Given the description of an element on the screen output the (x, y) to click on. 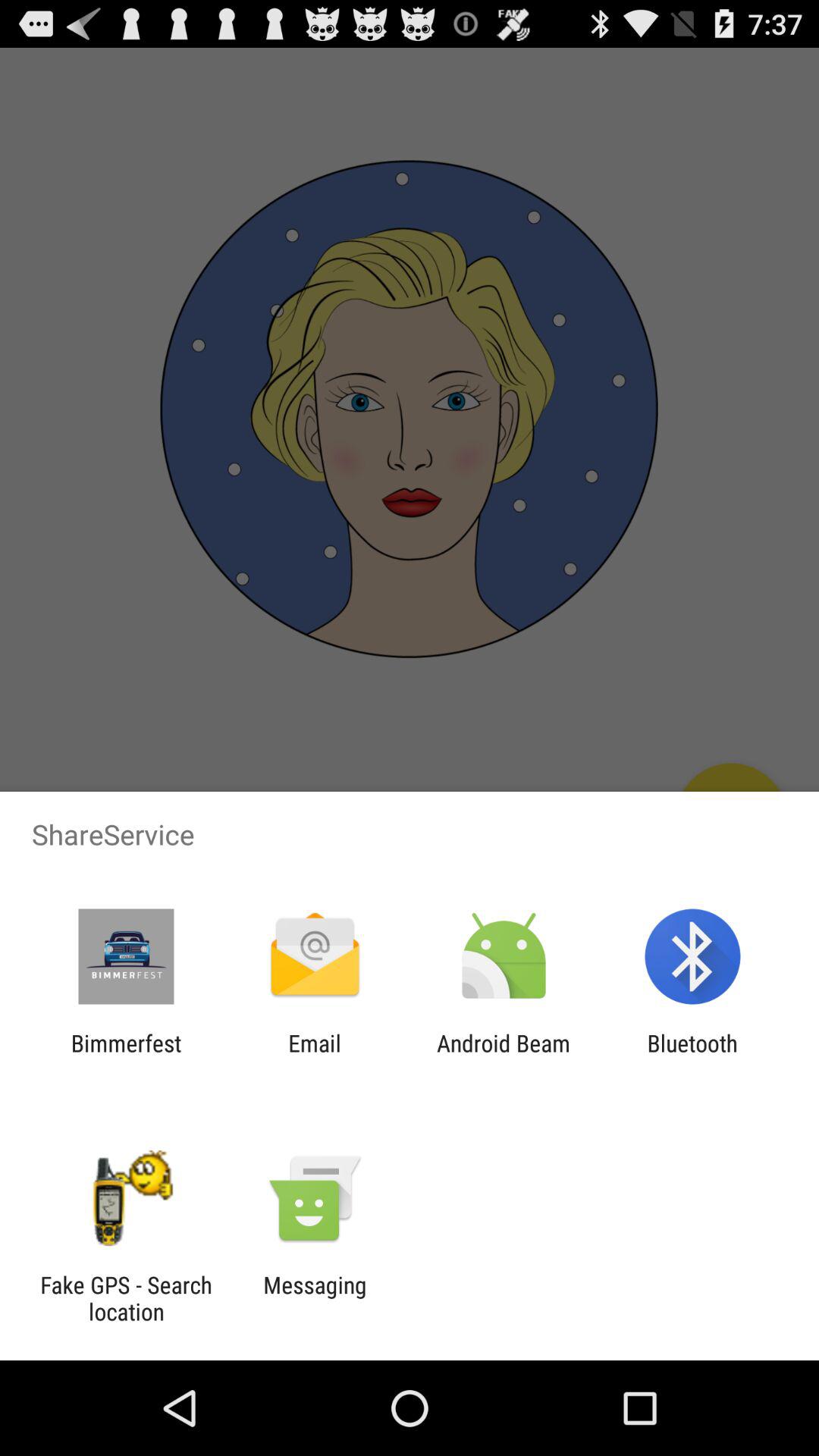
launch item next to the android beam icon (692, 1056)
